Given the description of an element on the screen output the (x, y) to click on. 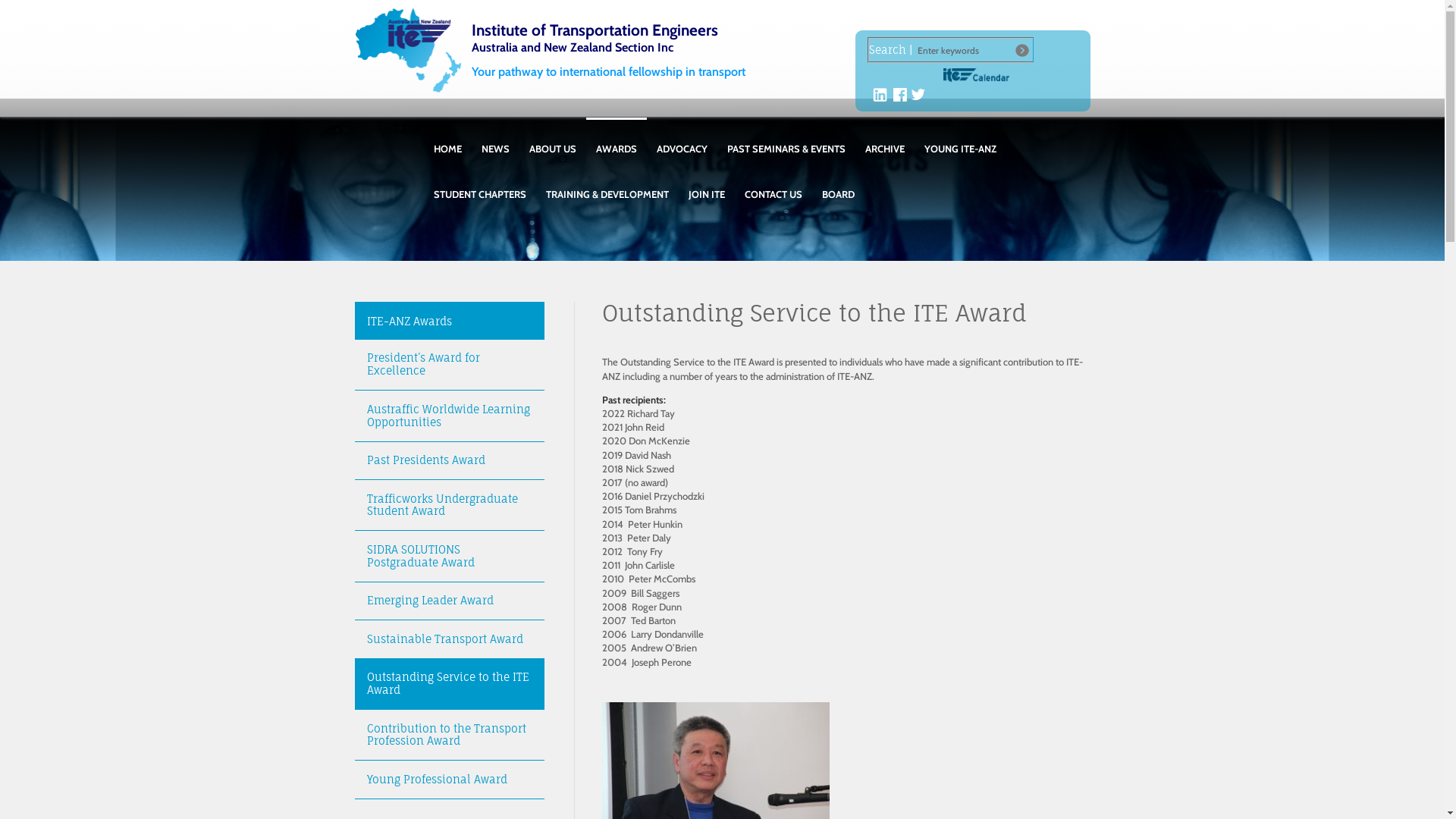
Emerging Leader Award Element type: text (449, 601)
BOARD Element type: text (837, 186)
ABOUT US Element type: text (551, 140)
Trafficworks Undergraduate Student Award Element type: text (449, 505)
NEWS Element type: text (495, 140)
ARCHIVE Element type: text (884, 140)
JOIN ITE Element type: text (705, 186)
Institute of Transportation Engineers Element type: hover (413, 50)
Contribution to the Transport Profession Award Element type: text (449, 734)
Young Professional Award Element type: text (449, 779)
PAST SEMINARS & EVENTS Element type: text (786, 140)
SIDRA SOLUTIONS Postgraduate Award Element type: text (449, 555)
Austraffic Worldwide Learning Opportunities Element type: text (449, 415)
Sustainable Transport Award Element type: text (449, 639)
Outstanding Service to the ITE Award Element type: text (449, 683)
Past Presidents Award Element type: text (449, 461)
TRAINING & DEVELOPMENT Element type: text (606, 186)
AWARDS Element type: text (615, 140)
HOME Element type: text (446, 140)
CONTACT US Element type: text (772, 186)
ADVOCACY Element type: text (681, 140)
YOUNG ITE-ANZ Element type: text (960, 140)
STUDENT CHAPTERS Element type: text (479, 186)
